Given the description of an element on the screen output the (x, y) to click on. 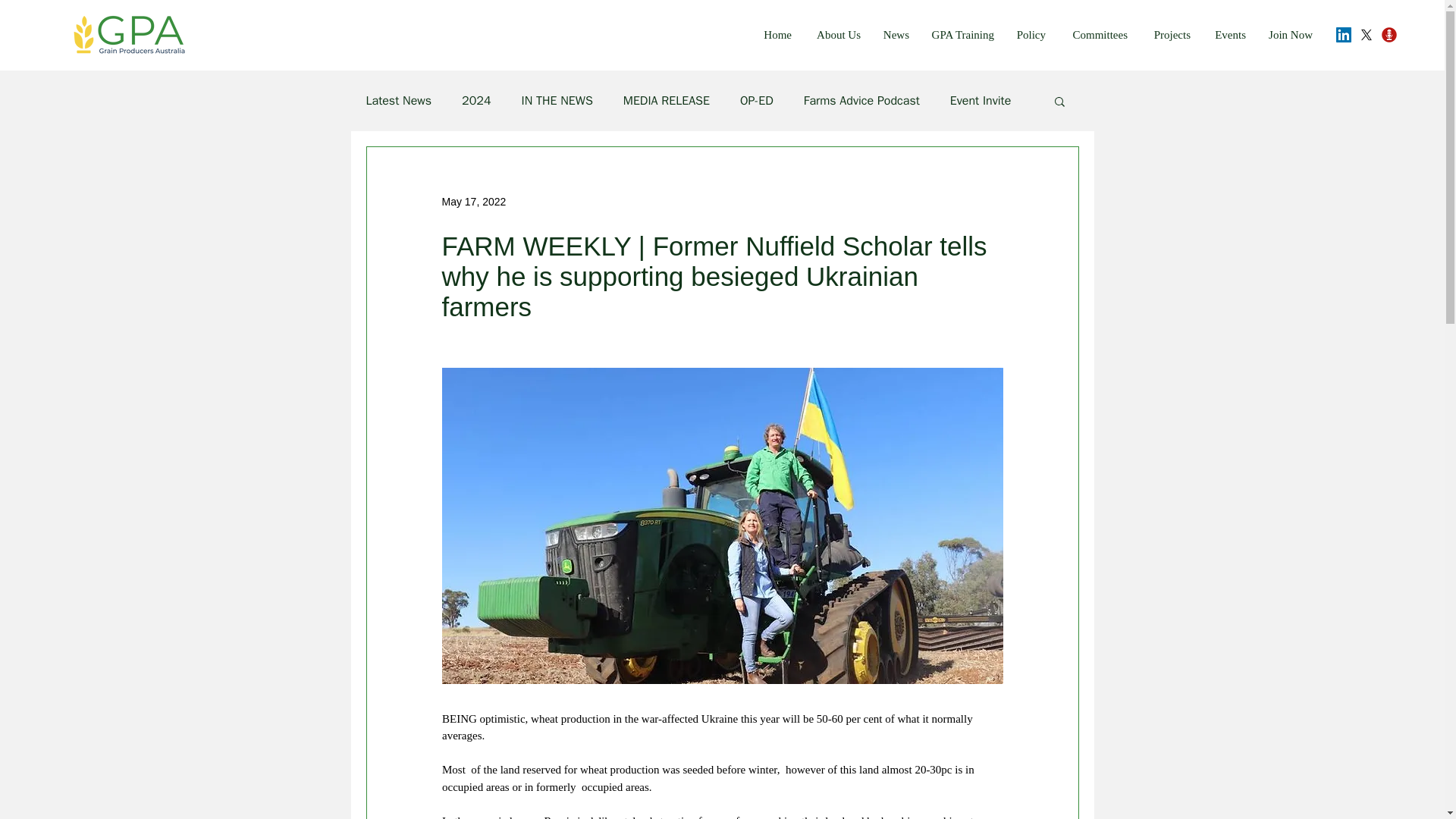
Policy (1026, 34)
News (892, 34)
Join Now (1286, 34)
Events (1225, 34)
Home (773, 34)
2024 (475, 100)
GPA Training (959, 34)
Latest News (397, 100)
May 17, 2022 (473, 201)
Committees (1093, 34)
